Given the description of an element on the screen output the (x, y) to click on. 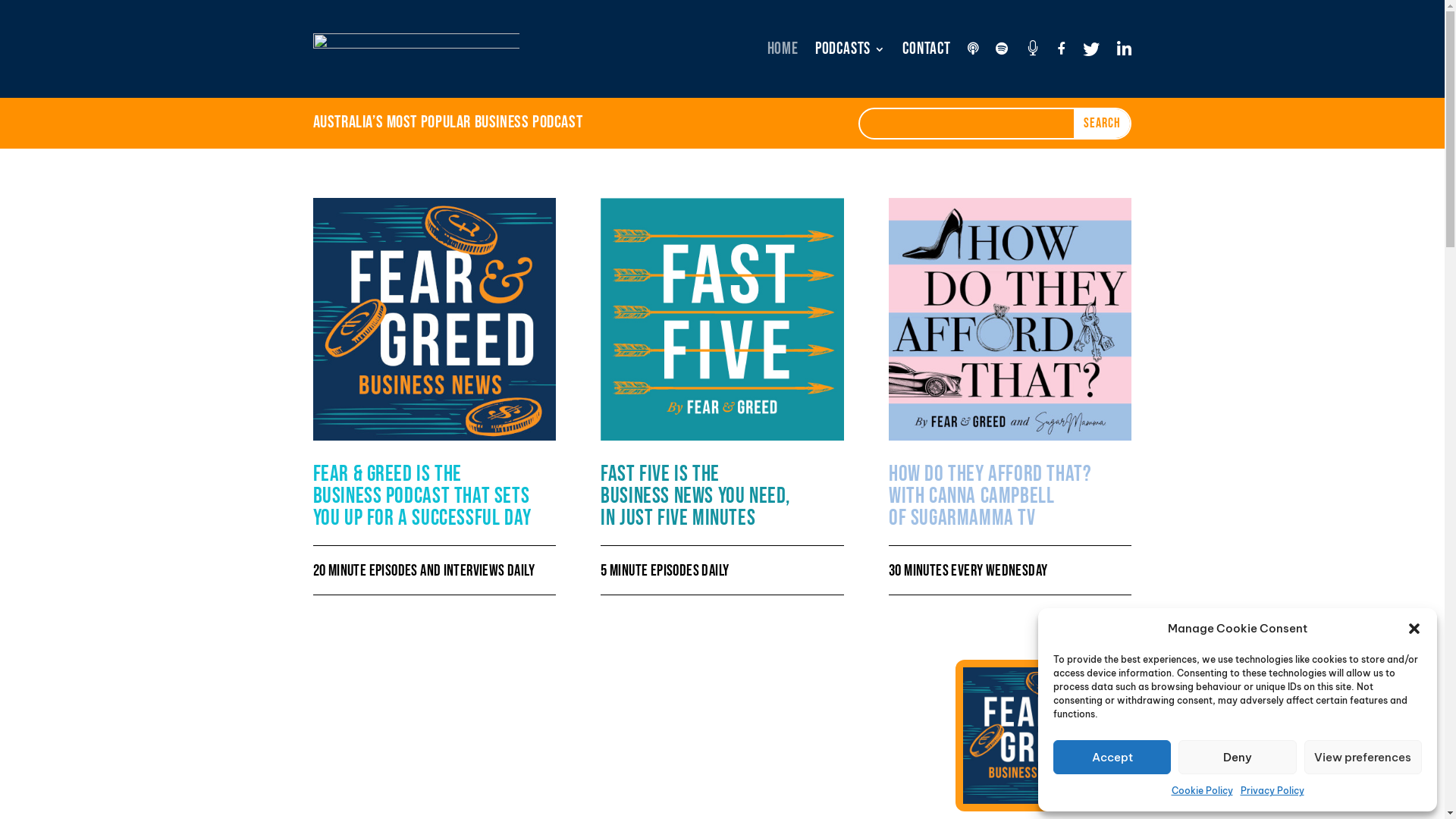
PODCASTS Element type: text (850, 48)
Contact Element type: text (926, 48)
Privacy Policy Element type: text (1272, 790)
Accept Element type: text (1111, 757)
Cookie Policy Element type: text (1201, 790)
Deny Element type: text (1236, 757)
View preferences Element type: text (1362, 757)
# Element type: text (1032, 48)
Search Element type: text (1101, 123)
HOME Element type: text (782, 48)
